Given the description of an element on the screen output the (x, y) to click on. 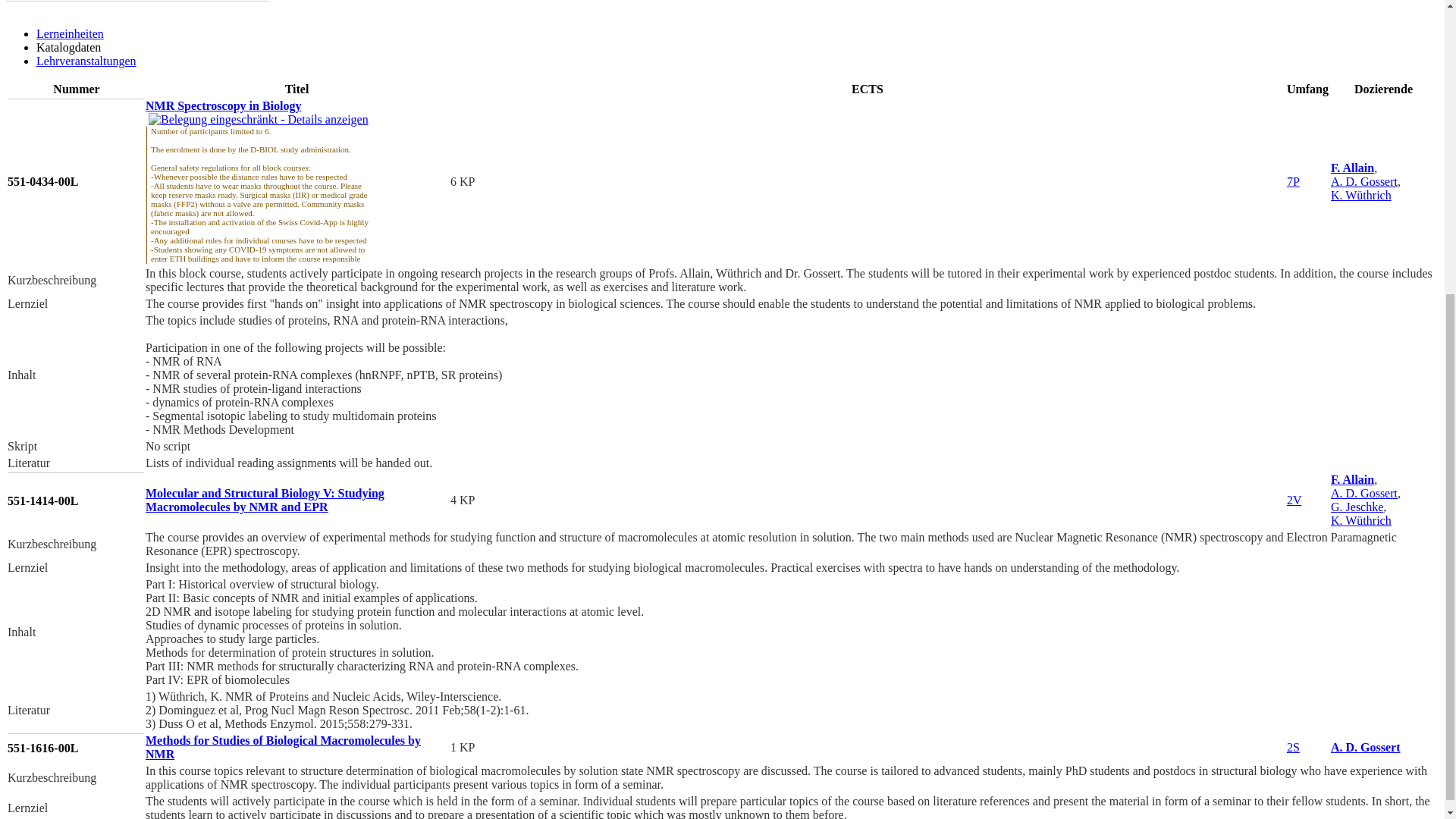
F. Allain (1352, 479)
Methods for Studies of Biological Macromolecules by NMR (282, 746)
A. D. Gossert (1363, 492)
7P (1293, 181)
G. Jeschke (1356, 506)
A. D. Gossert (1363, 181)
NMR Spectroscopy in Biology (223, 105)
Lerneinheiten (69, 33)
F. Allain (1352, 167)
2S (1293, 747)
Lehrveranstaltungen (86, 60)
A. D. Gossert (1365, 747)
2V (1294, 499)
